Given the description of an element on the screen output the (x, y) to click on. 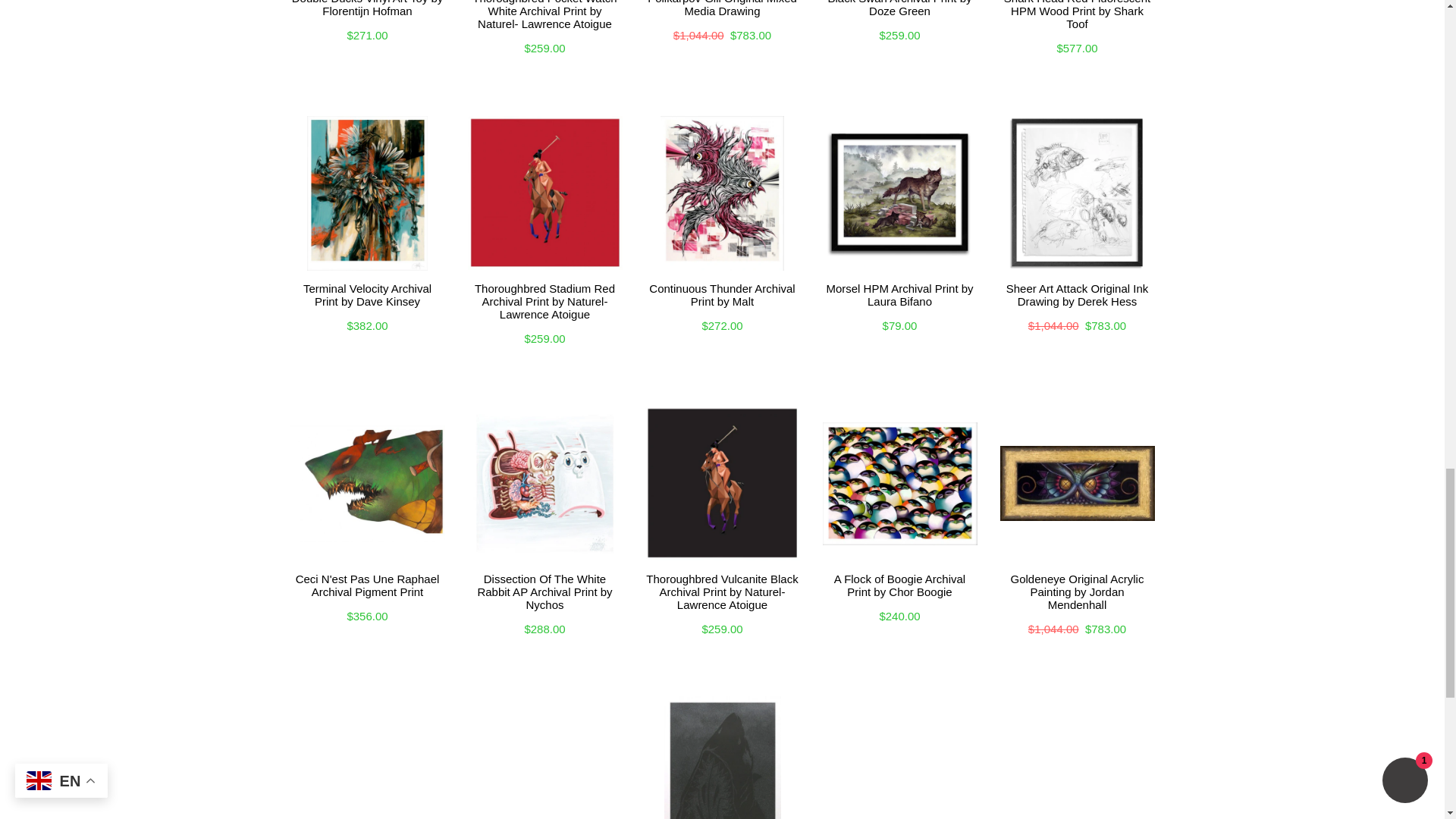
Continuous Thunder Archival Print by Malt (722, 293)
Goldeneye Original Acrylic Painting by Jordan Mendenhall (1076, 590)
A Flock of Boogie Archival Print by Chor Boogie (899, 583)
Ceci N'est Pas Une Raphael  Archival Pigment Print (366, 583)
Polikarpov-Gill Original Mixed Media Drawing (722, 12)
Black Swan Archival Print by Doze Green (899, 12)
Dissection Of The White Rabbit AP Archival Print by Nychos (544, 590)
Shark Head Red Fluorescent HPM Wood Print by Shark Toof (1076, 18)
Sheer Art Attack Original Ink Drawing by Derek Hess (1076, 293)
Morsel HPM Archival Print by Laura Bifano (899, 293)
Terminal Velocity Archival Print by Dave Kinsey (366, 293)
Double Ducks Vinyl Art Toy by Florentijn Hofman (366, 12)
